Given the description of an element on the screen output the (x, y) to click on. 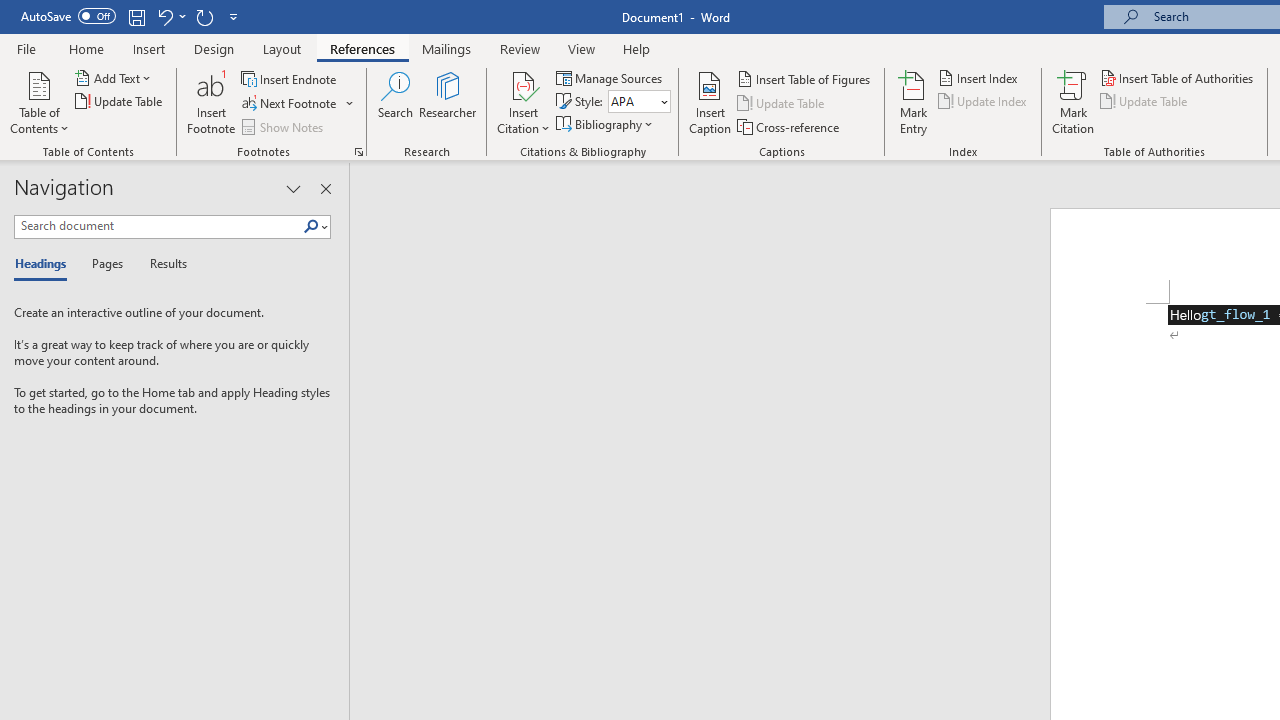
Manage Sources... (610, 78)
Insert Citation (523, 102)
Insert Footnote (211, 102)
Update Table... (119, 101)
Undo Underline Style (164, 15)
Style (639, 101)
Insert Table of Figures... (804, 78)
Footnote and Endnote Dialog... (358, 151)
